Given the description of an element on the screen output the (x, y) to click on. 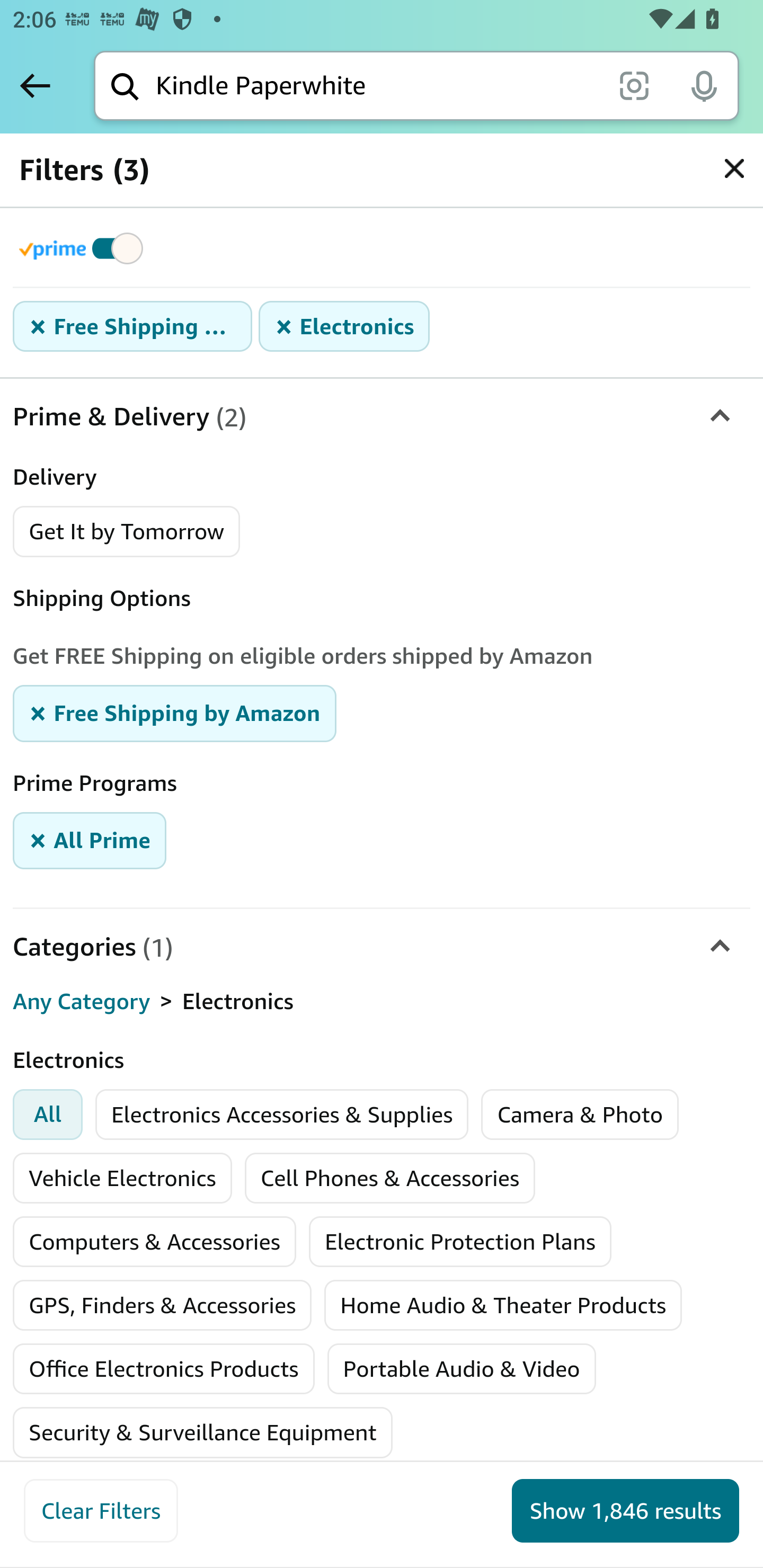
Back (35, 85)
scan it (633, 85)
Toggle to filter by Prime products Prime Eligible (83, 247)
× Electronics × Electronics (344, 326)
Prime & Delivery (2) (381, 416)
Get It by Tomorrow (126, 531)
× All Prime × All Prime (89, 839)
Categories (1) (381, 945)
Any Category (81, 1001)
Electronics Accessories & Supplies (282, 1114)
Camera & Photo (579, 1114)
Vehicle Electronics (121, 1178)
Cell Phones & Accessories (389, 1178)
Computers & Accessories (154, 1241)
Electronic Protection Plans (459, 1241)
GPS, Finders & Accessories (162, 1305)
Home Audio & Theater Products (503, 1305)
Office Electronics Products (163, 1368)
Portable Audio & Video (460, 1368)
Security & Surveillance Equipment (202, 1432)
Clear Filters (100, 1510)
Show 1,846 results (625, 1510)
